Given the description of an element on the screen output the (x, y) to click on. 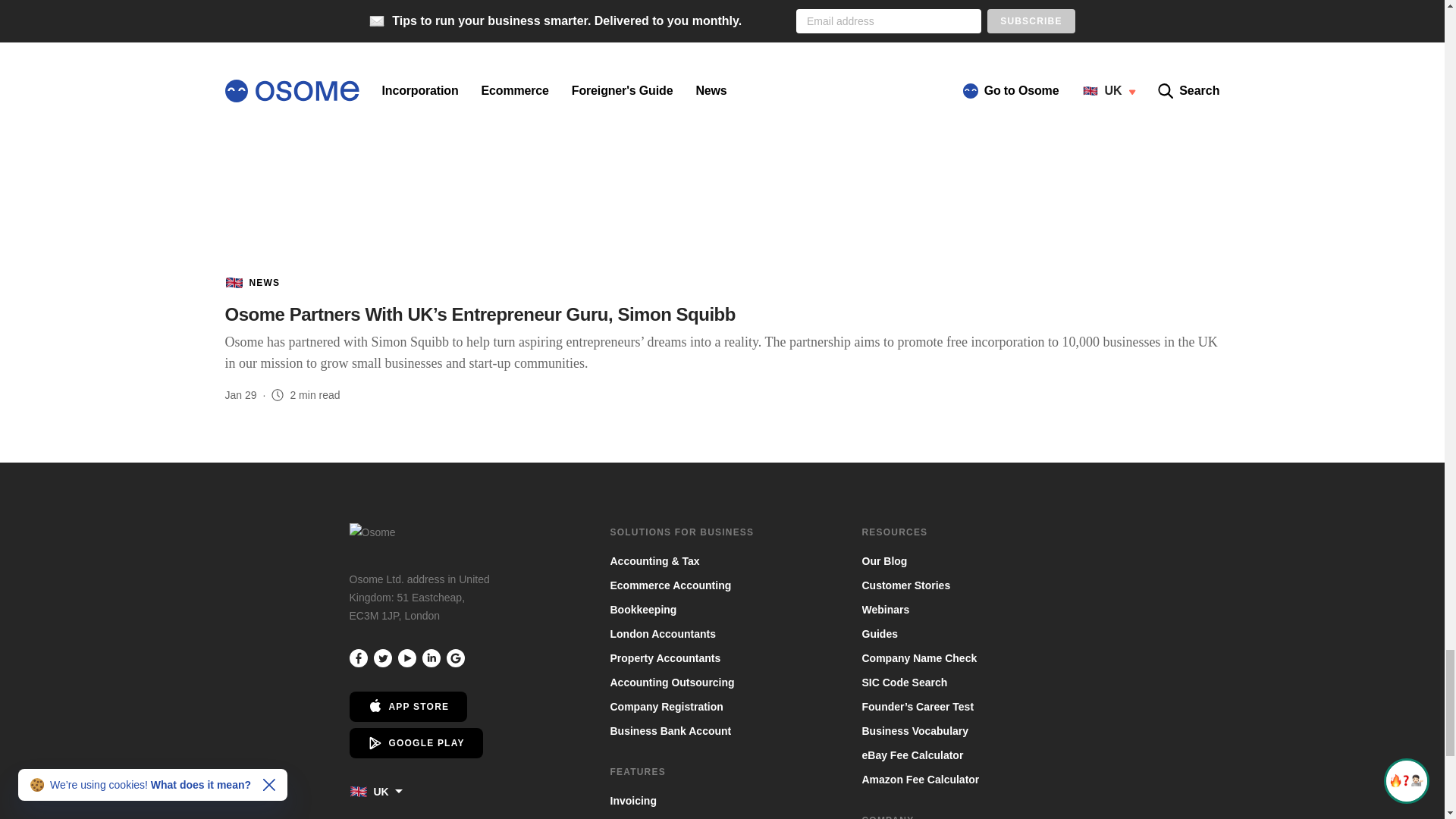
Review us (454, 658)
Osome Twitter (381, 658)
Osome Youtube (405, 658)
Osome LinkedIn (430, 658)
Osome Facebook (357, 658)
